Given the description of an element on the screen output the (x, y) to click on. 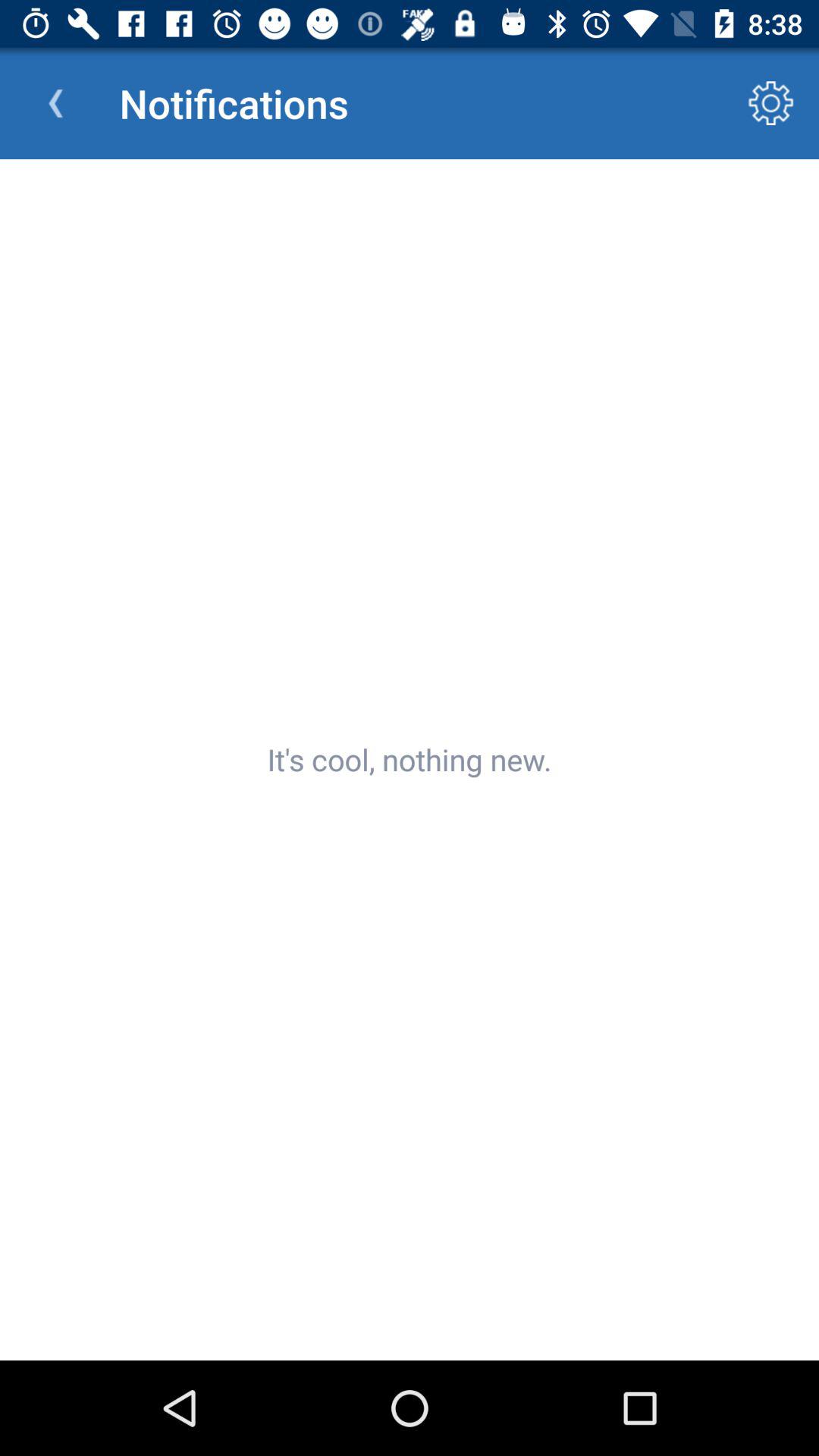
turn on item to the left of the notifications icon (55, 103)
